Given the description of an element on the screen output the (x, y) to click on. 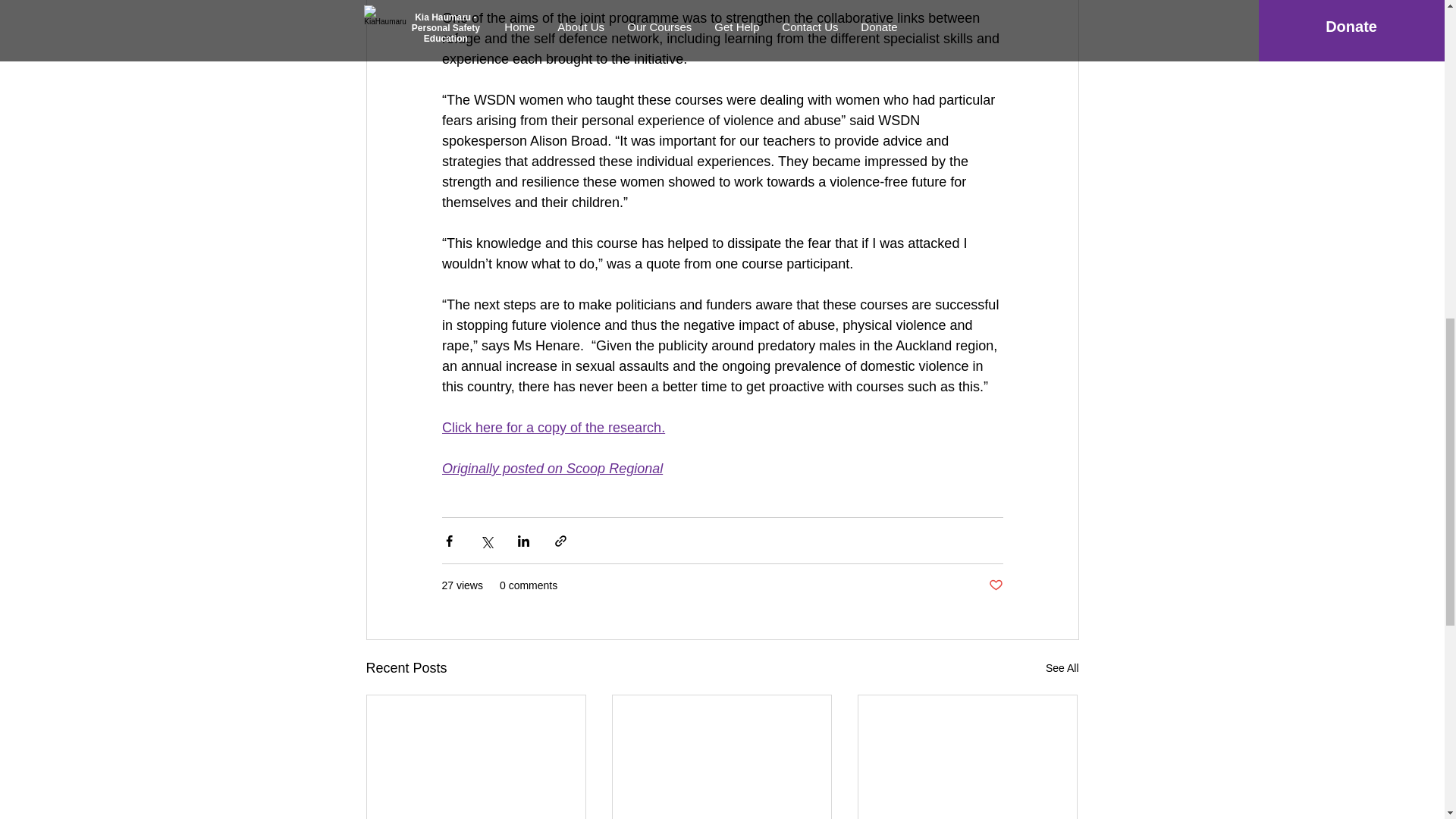
Post not marked as liked (995, 585)
Originally posted on Scoop Regional (551, 468)
Click here for a copy of the research. (552, 427)
See All (1061, 668)
